Given the description of an element on the screen output the (x, y) to click on. 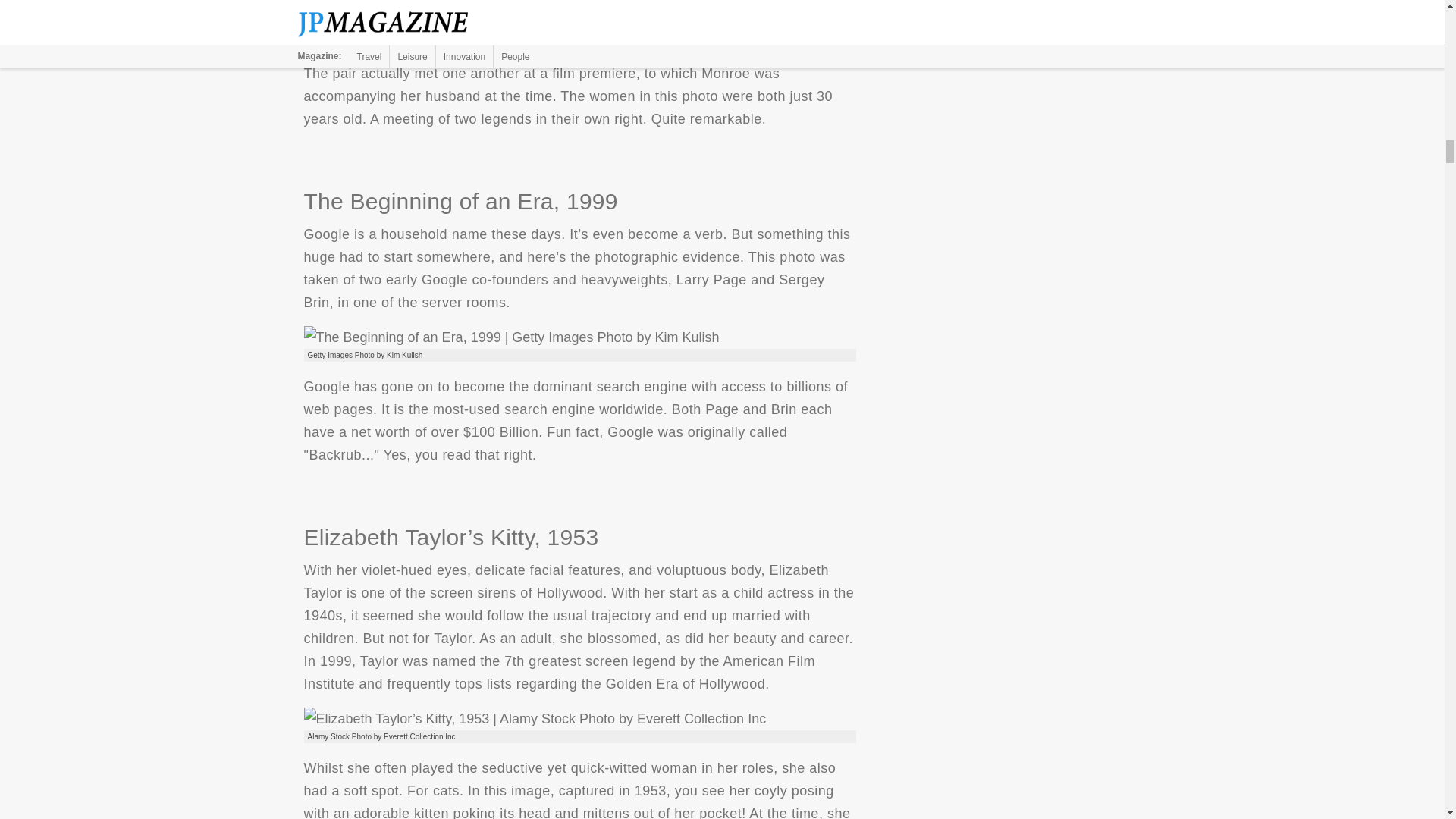
The Beginning of an Era, 1999 (510, 336)
